Given the description of an element on the screen output the (x, y) to click on. 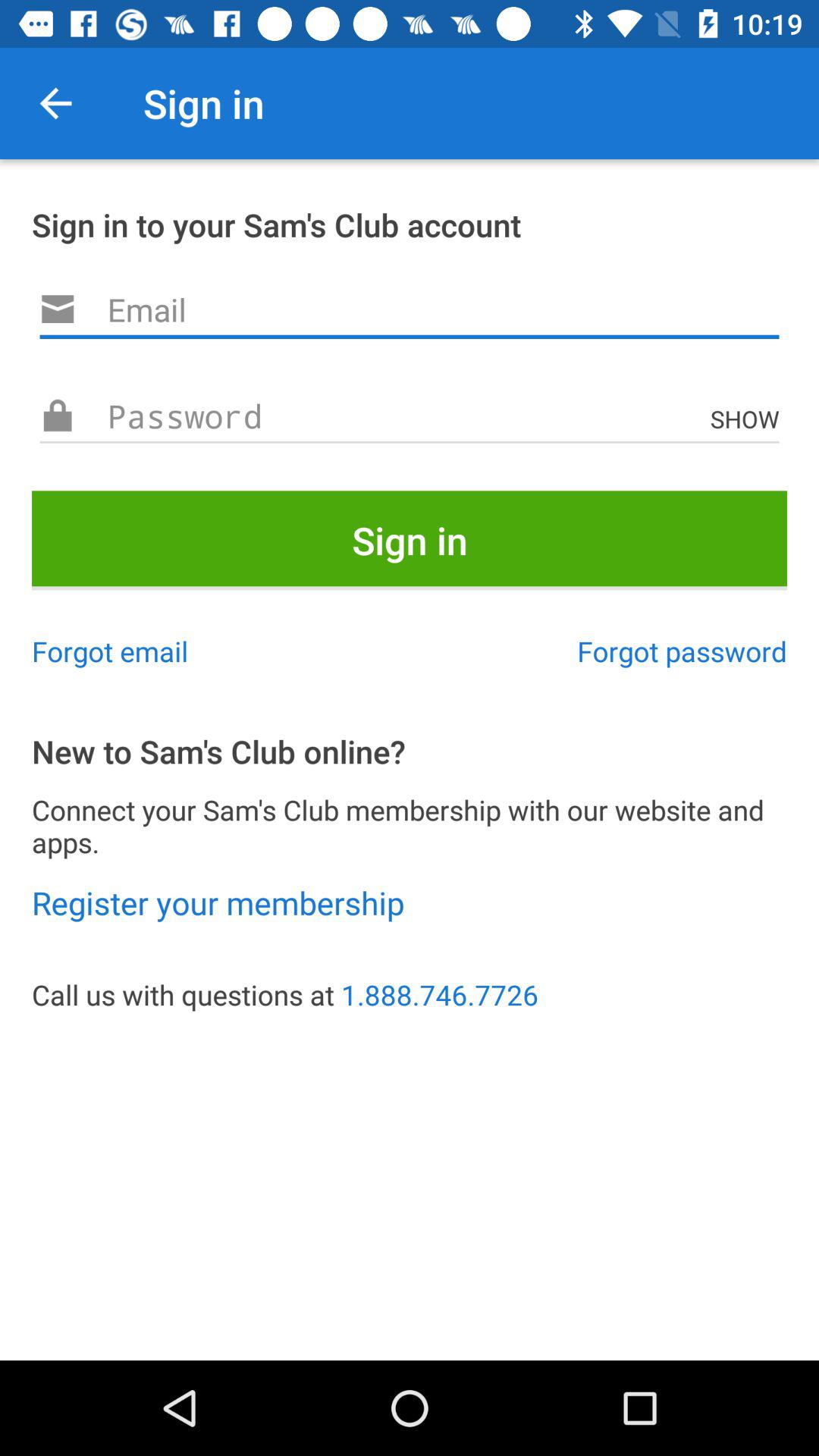
click the icon below the register your membership item (409, 994)
